Given the description of an element on the screen output the (x, y) to click on. 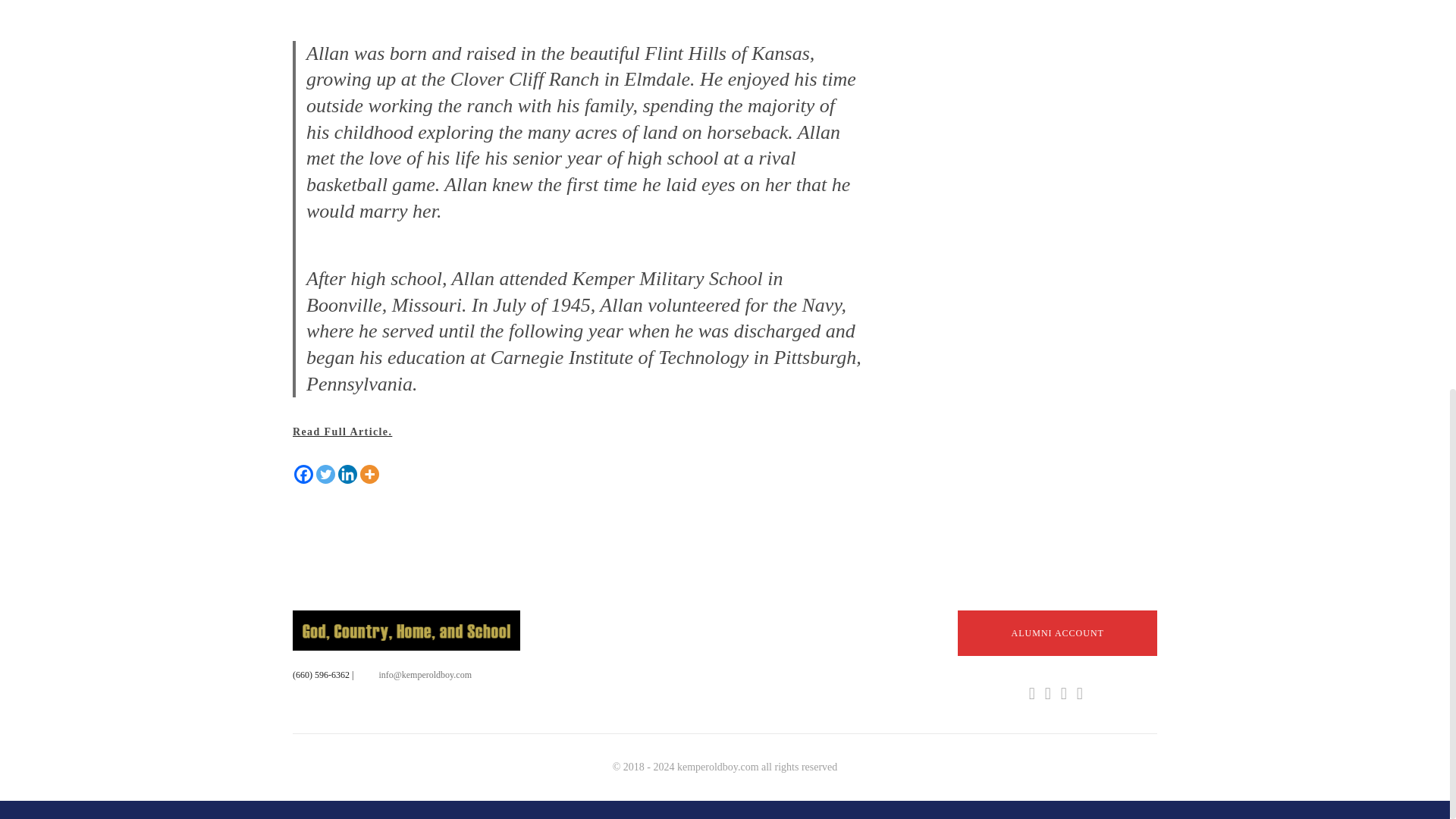
Twitter (324, 474)
The Kemper Old Boy Network (405, 629)
Facebook (303, 474)
Linkedin (346, 474)
More (368, 474)
